Given the description of an element on the screen output the (x, y) to click on. 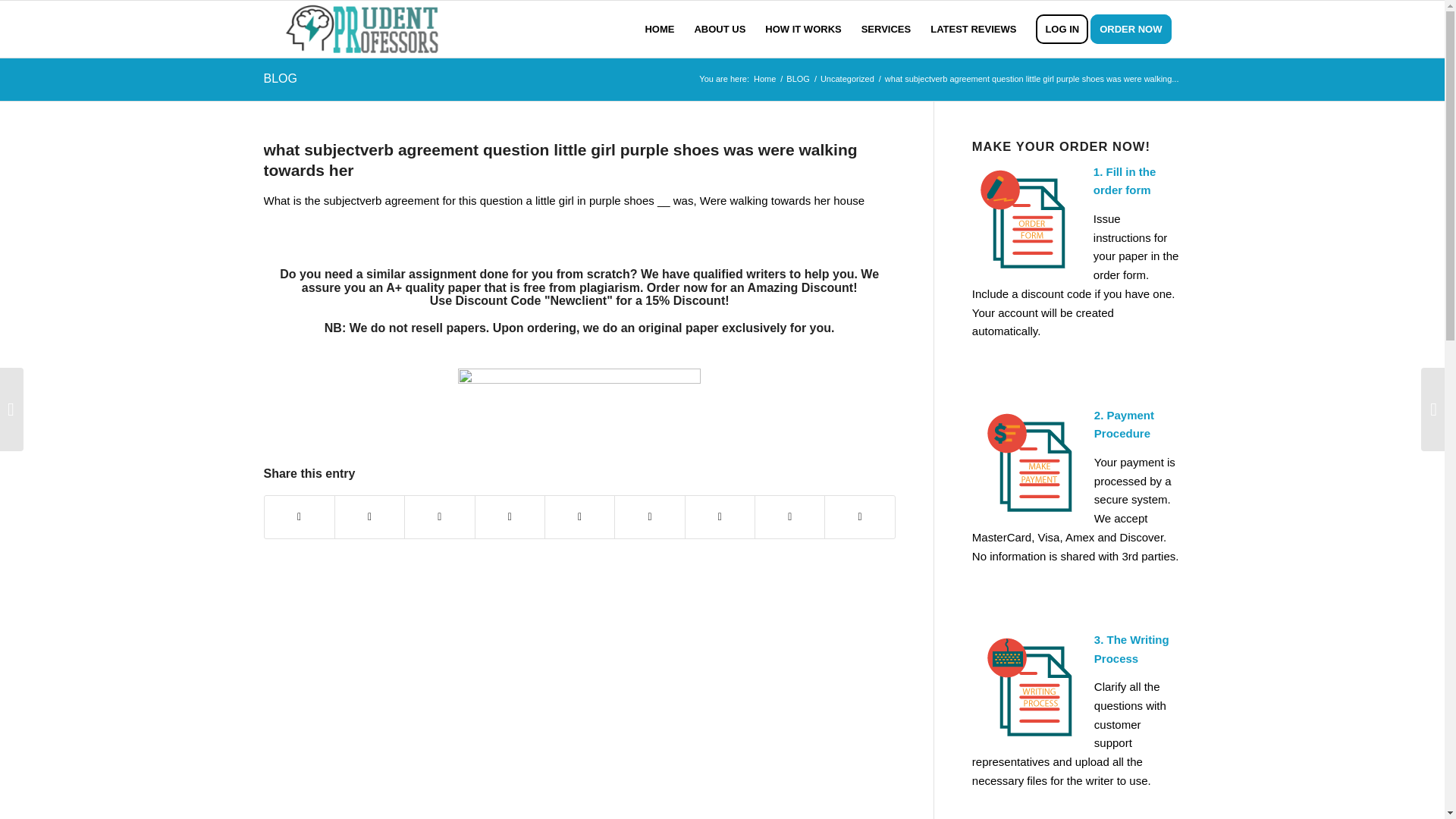
prudentprofessors.com (764, 79)
Home (764, 79)
BLOG (798, 79)
LATEST REVIEWS (973, 28)
Permanent Link: BLOG (280, 78)
BLOG (280, 78)
ORDER NOW (1135, 28)
LOG IN (1061, 28)
SERVICES (886, 28)
Uncategorized (847, 79)
ABOUT US (719, 28)
BLOG (798, 79)
HOW IT WORKS (802, 28)
